Given the description of an element on the screen output the (x, y) to click on. 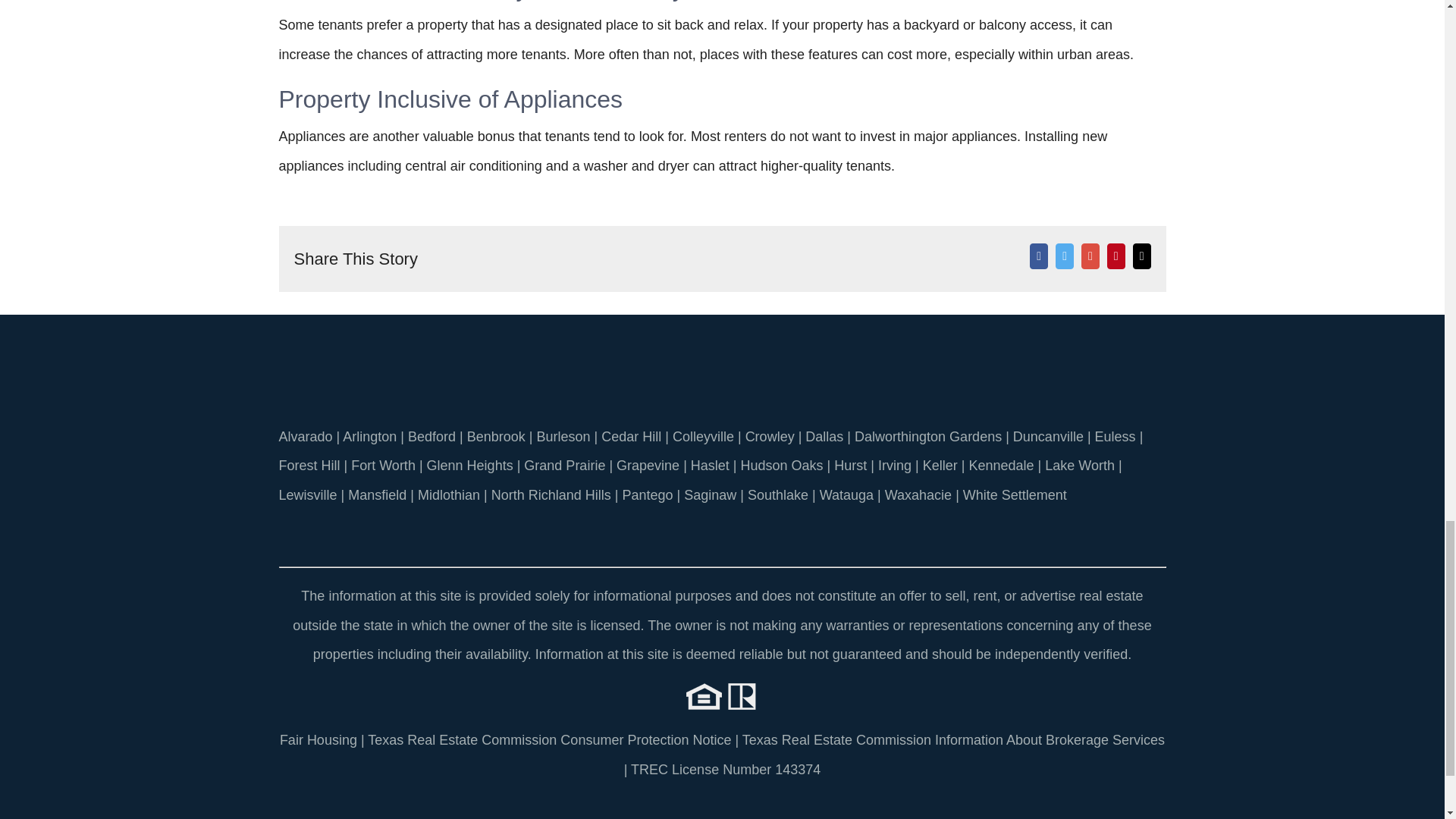
Arlington (369, 436)
Bedford (431, 436)
Alvarado (306, 436)
Cedar Hill (631, 436)
Benbrook (496, 436)
Colleyville (702, 436)
Burleson (562, 436)
Crowley (769, 436)
